Given the description of an element on the screen output the (x, y) to click on. 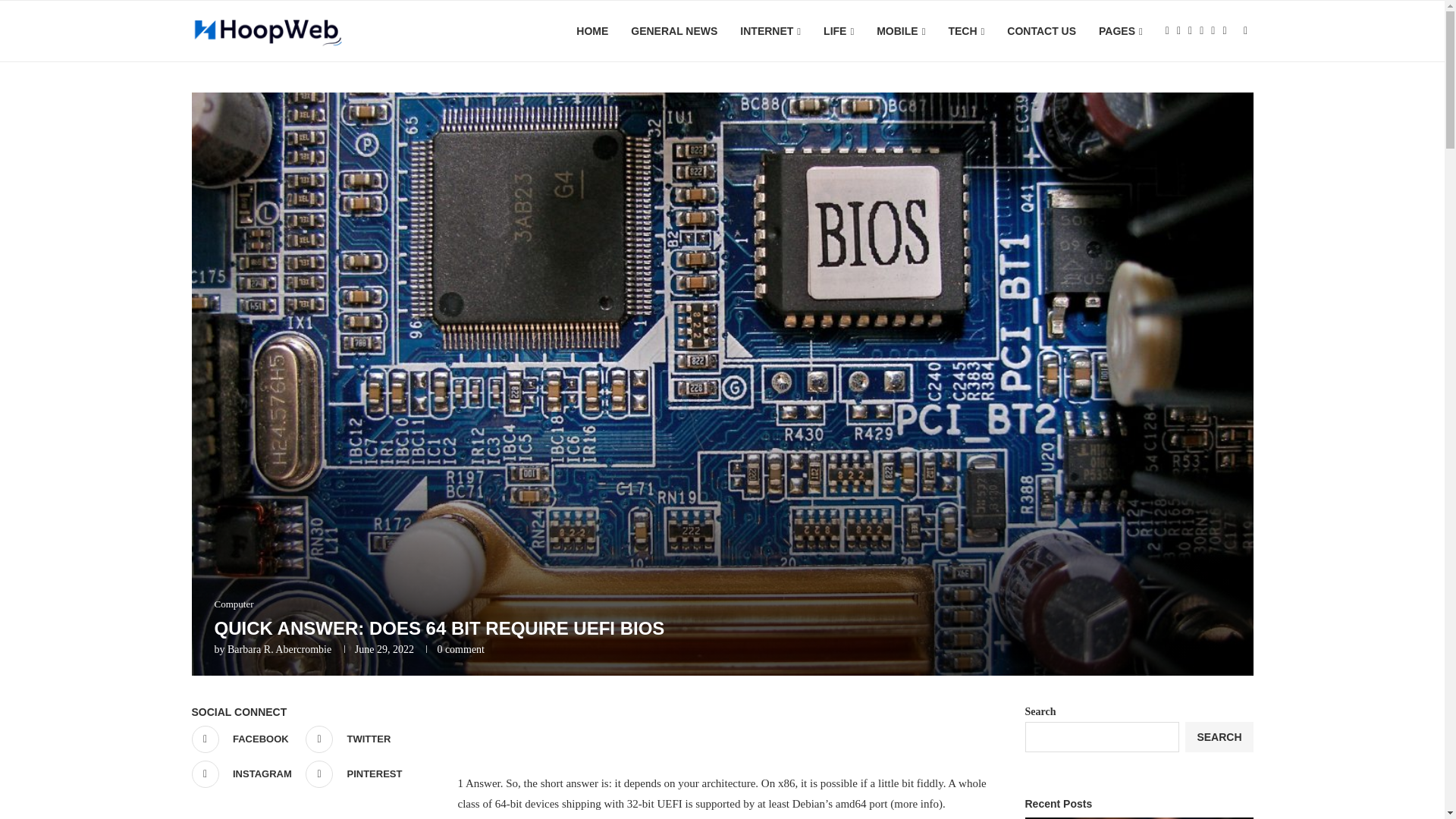
INTERNET (769, 31)
CONTACT US (1041, 30)
GENERAL NEWS (673, 30)
